Given the description of an element on the screen output the (x, y) to click on. 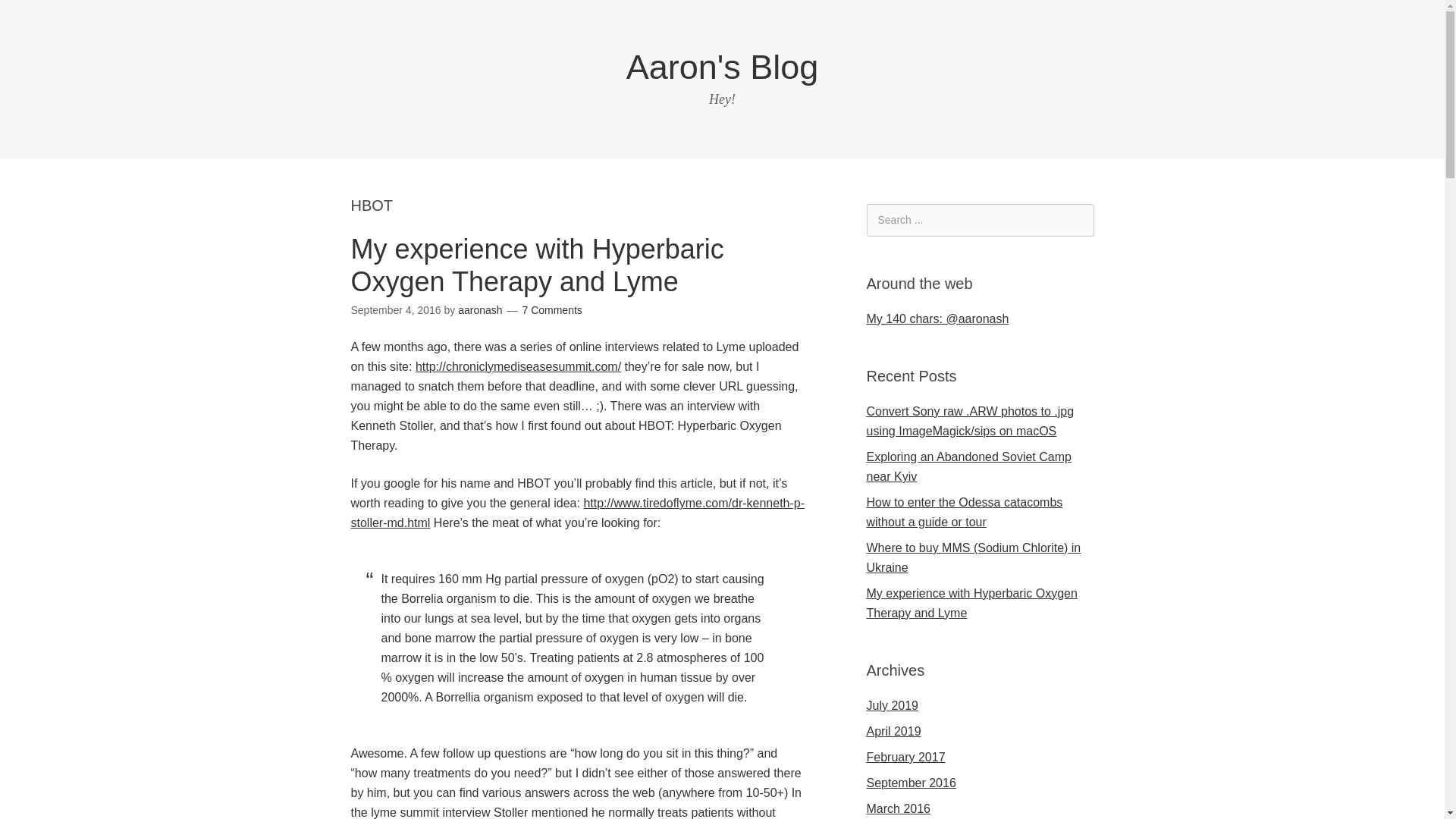
aaronash (480, 309)
Posts by aaronash (480, 309)
How to enter the Odessa catacombs without a guide or tour (964, 512)
My experience with Hyperbaric Oxygen Therapy and Lyme (536, 265)
Search for: (979, 219)
February 2017 (905, 757)
Aaron's Blog (722, 66)
September 2016 (910, 782)
April 2019 (893, 730)
